Given the description of an element on the screen output the (x, y) to click on. 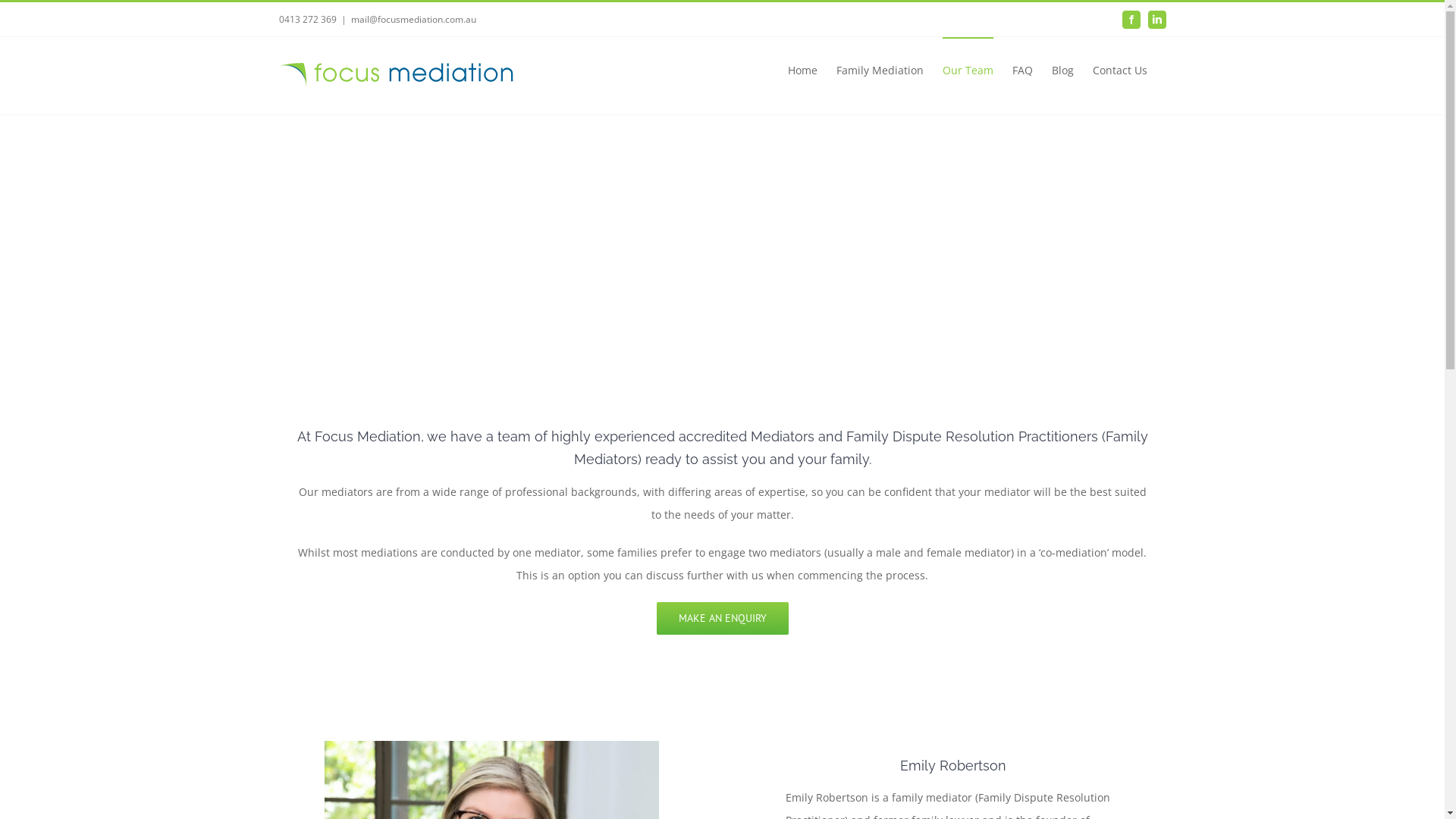
Home Element type: text (801, 69)
Facebook Element type: text (1131, 19)
Contact Us Element type: text (1119, 69)
mail@focusmediation.com.au Element type: text (412, 18)
FAQ Element type: text (1021, 69)
Blog Element type: text (1062, 69)
LinkedIn Element type: text (1157, 19)
Our Team Element type: text (966, 69)
MAKE AN ENQUIRY Element type: text (722, 618)
Family Mediation Element type: text (878, 69)
